Given the description of an element on the screen output the (x, y) to click on. 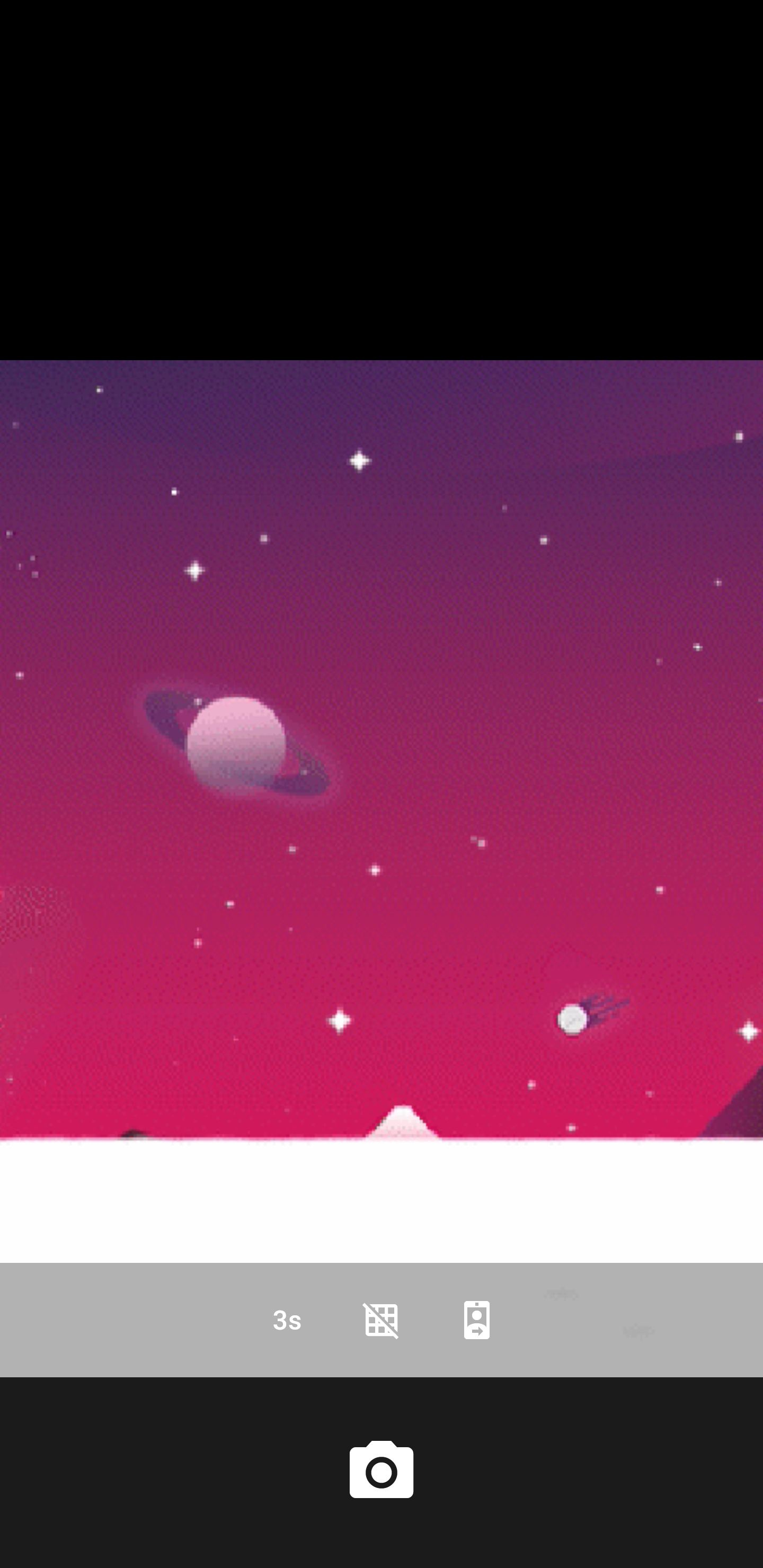
Countdown timer duration is set to 3 seconds (285, 1319)
Grid lines off (381, 1319)
Front camera (476, 1319)
Shutter (381, 1472)
